Given the description of an element on the screen output the (x, y) to click on. 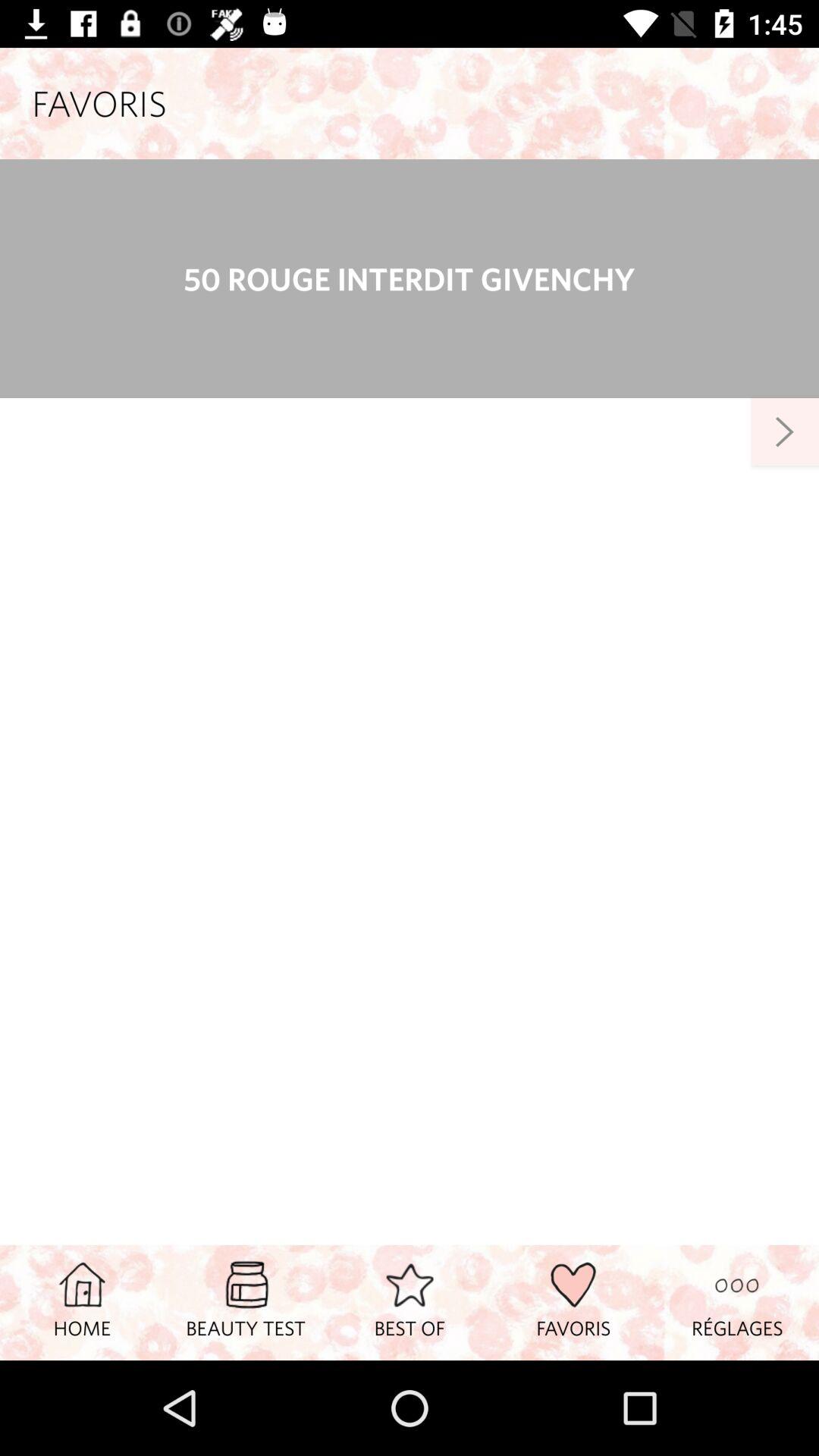
select icon to the left of beauty test (81, 1302)
